Given the description of an element on the screen output the (x, y) to click on. 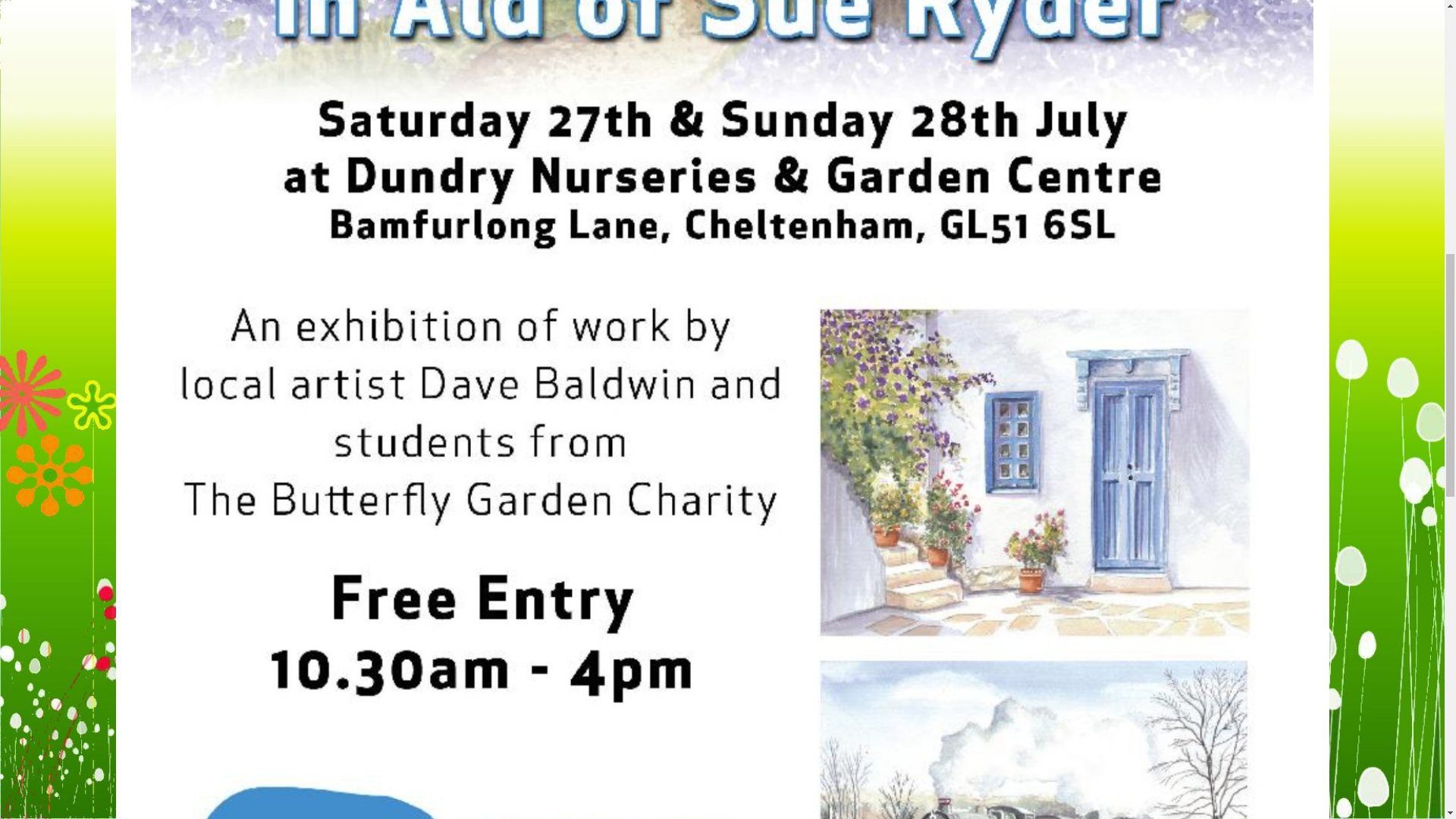
Next (1300, 231)
Prev (143, 231)
